Given the description of an element on the screen output the (x, y) to click on. 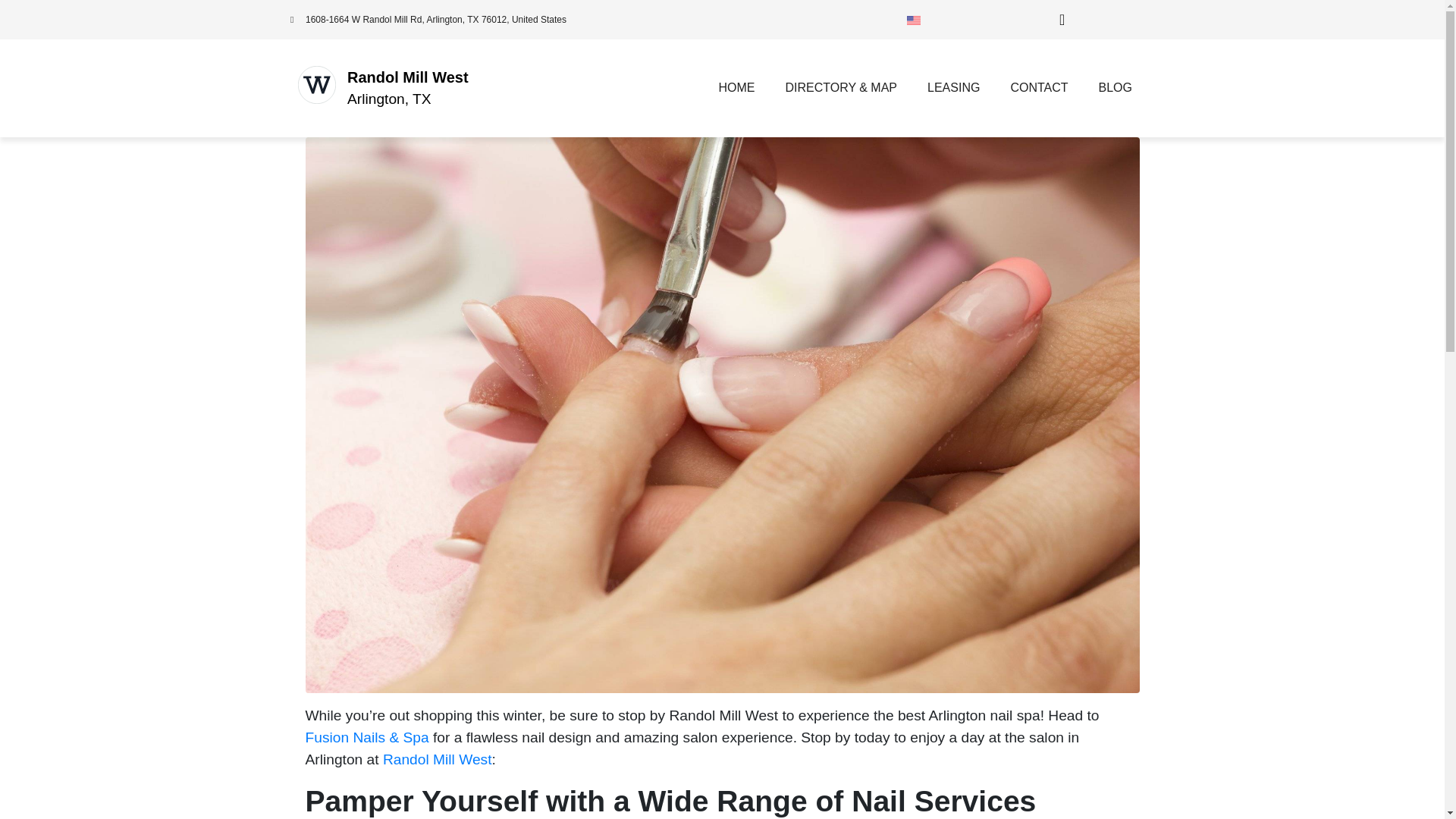
BLOG (1115, 87)
Randol Mill West (437, 759)
CONTACT (1038, 87)
LEASING (953, 87)
Randol Mill West (407, 76)
HOME (736, 87)
